Given the description of an element on the screen output the (x, y) to click on. 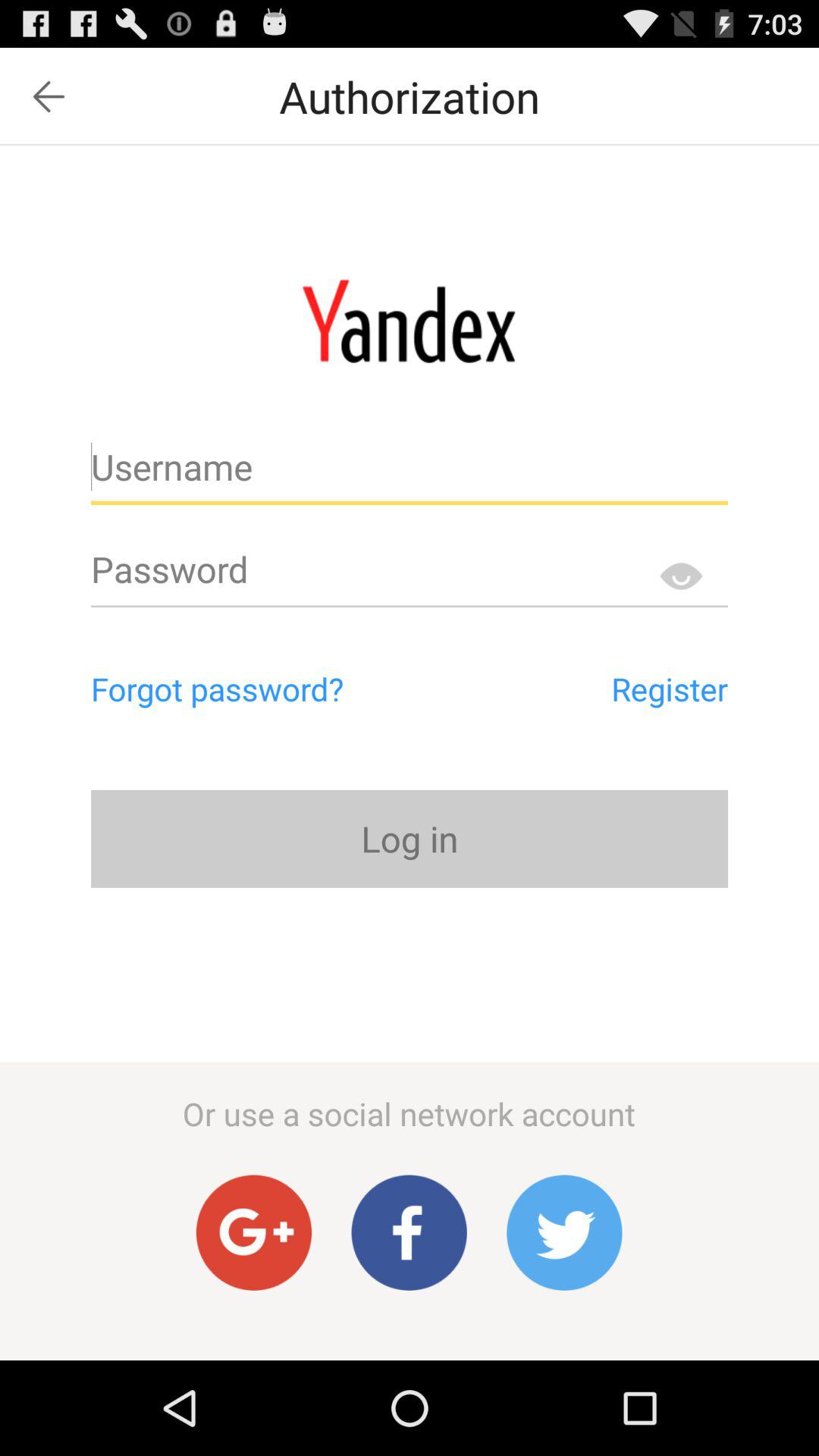
enter text (409, 575)
